Given the description of an element on the screen output the (x, y) to click on. 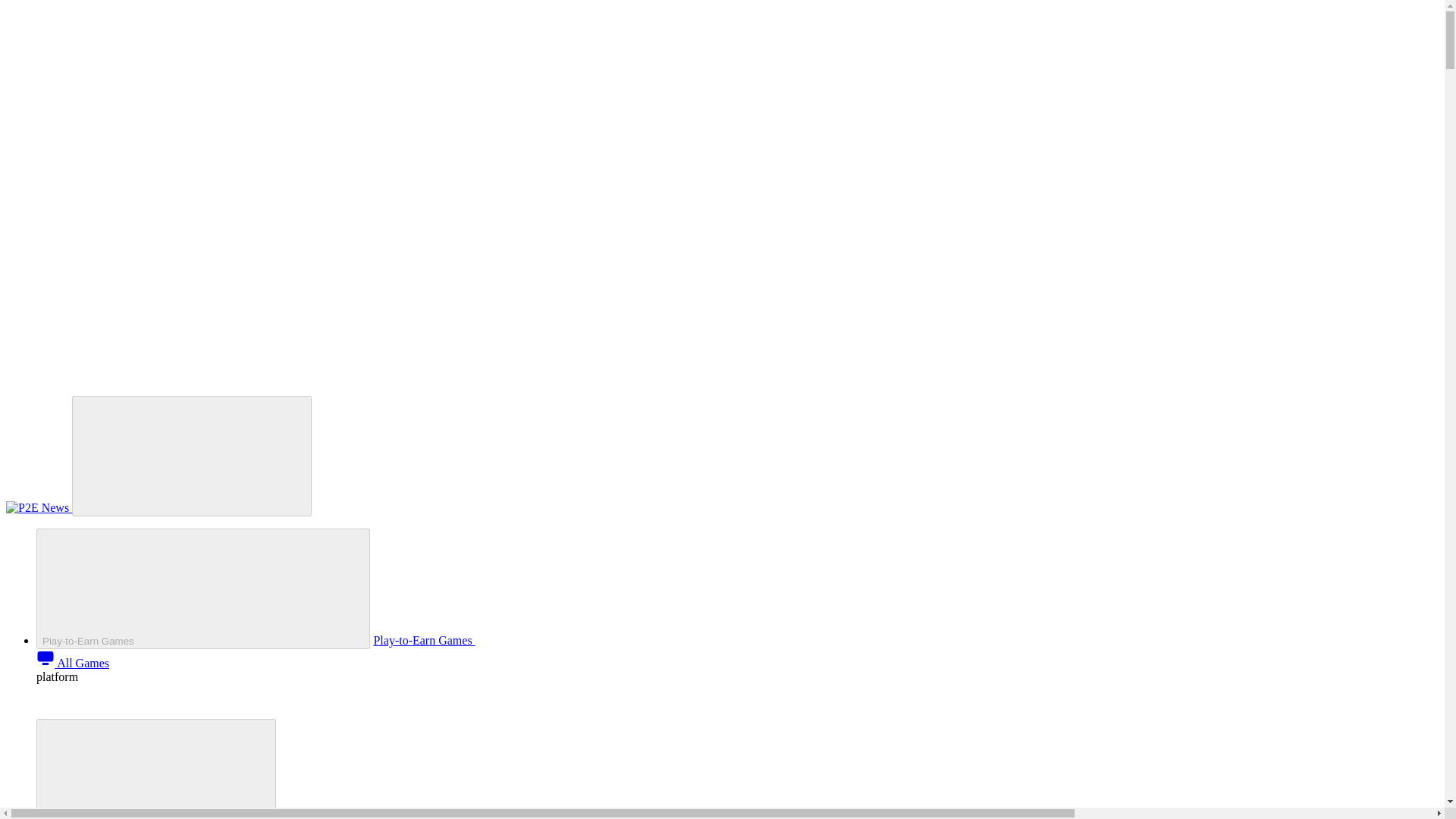
All Games (72, 662)
Play-to-Earn Games (202, 588)
Play-to-Earn Games (536, 640)
